Given the description of an element on the screen output the (x, y) to click on. 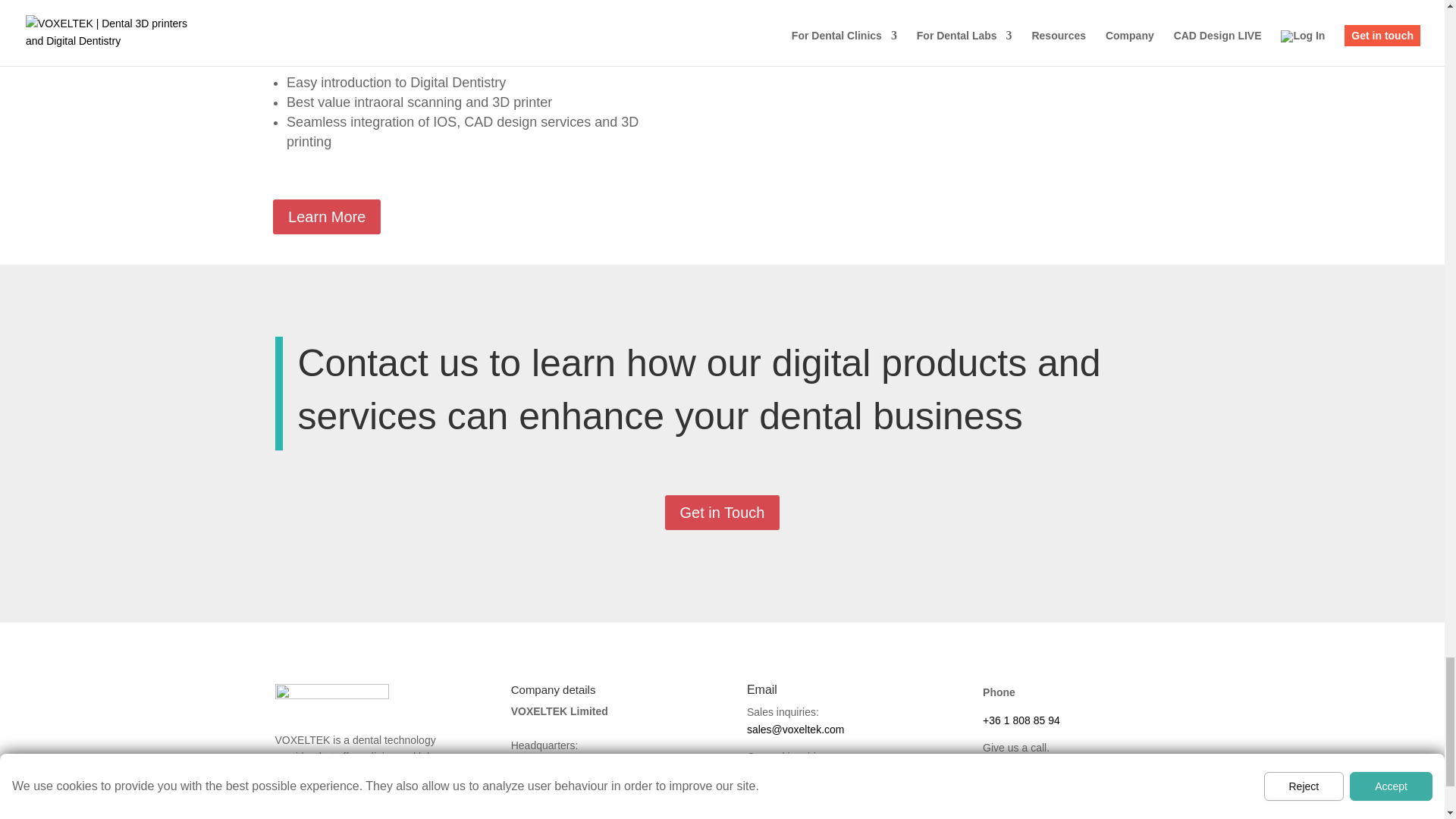
Learn More (326, 216)
Get in Touch (722, 512)
Contact Us (1010, 792)
logo (331, 694)
